Given the description of an element on the screen output the (x, y) to click on. 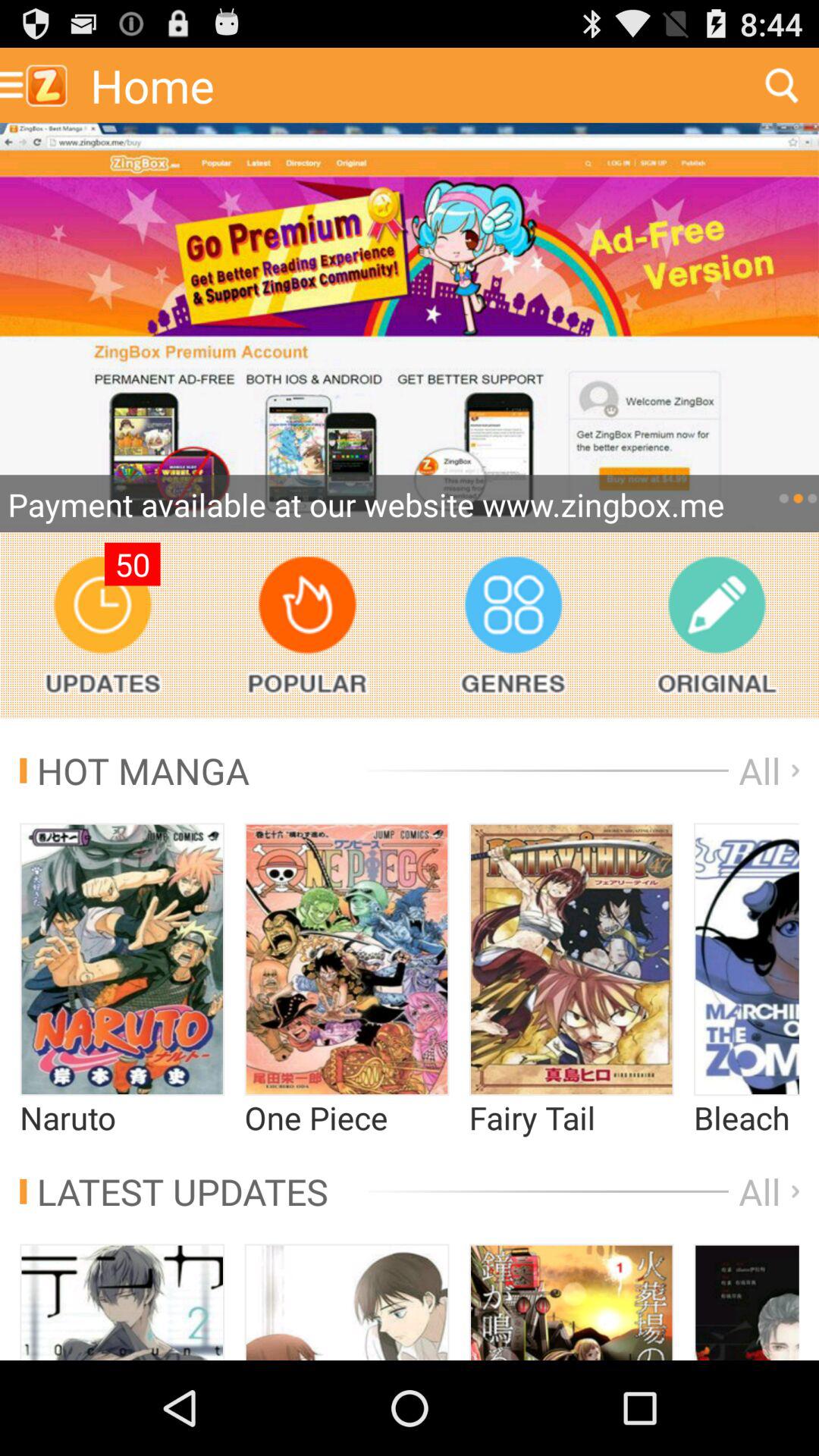
select that book (746, 1301)
